Given the description of an element on the screen output the (x, y) to click on. 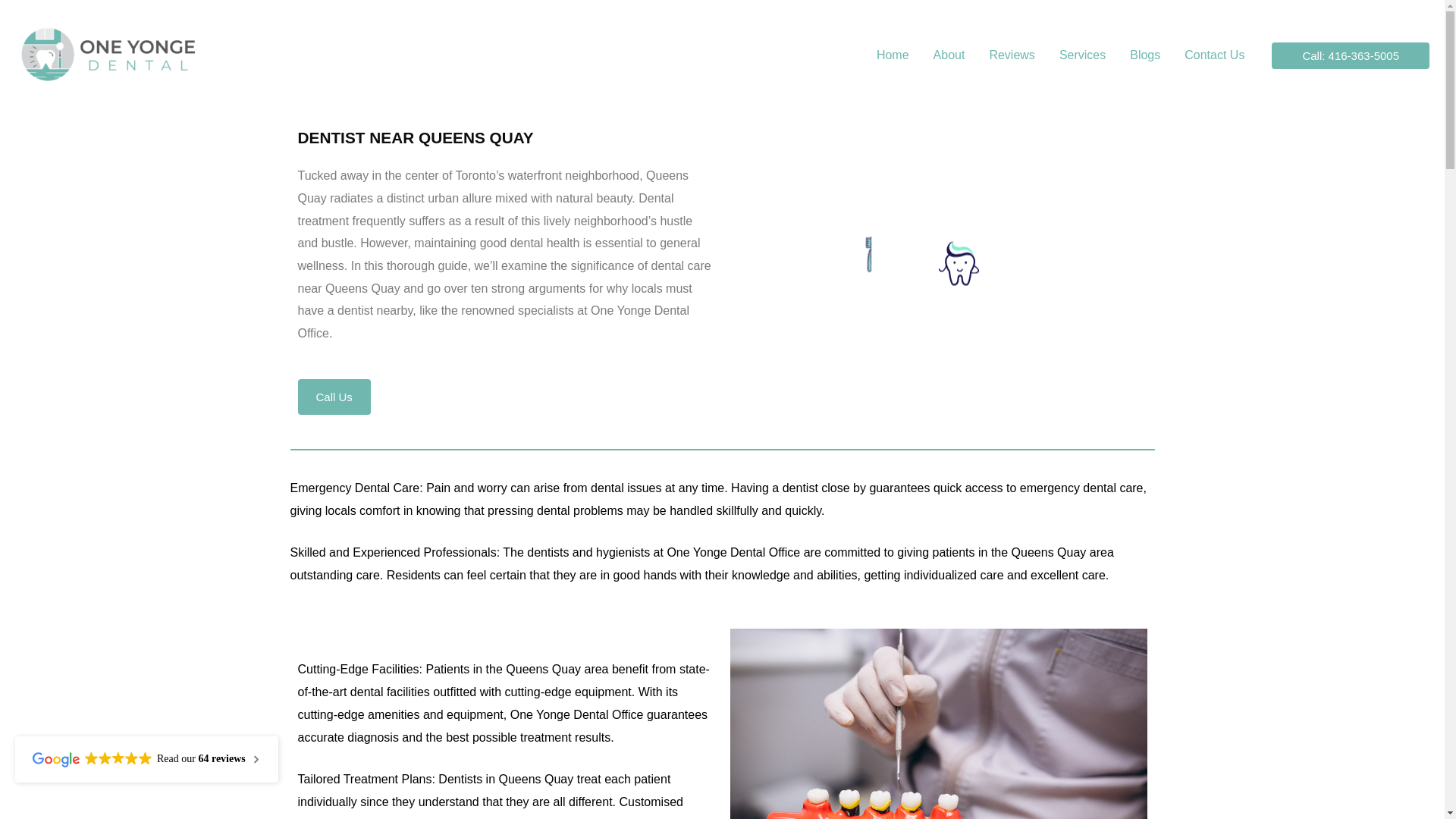
Blogs (1145, 54)
Services (1082, 54)
Call: 416-363-5005 (1350, 55)
Read our 64 reviews (146, 759)
About (948, 54)
Call Us (333, 396)
Contact Us (1214, 54)
Reviews (1011, 54)
Home (892, 54)
